Given the description of an element on the screen output the (x, y) to click on. 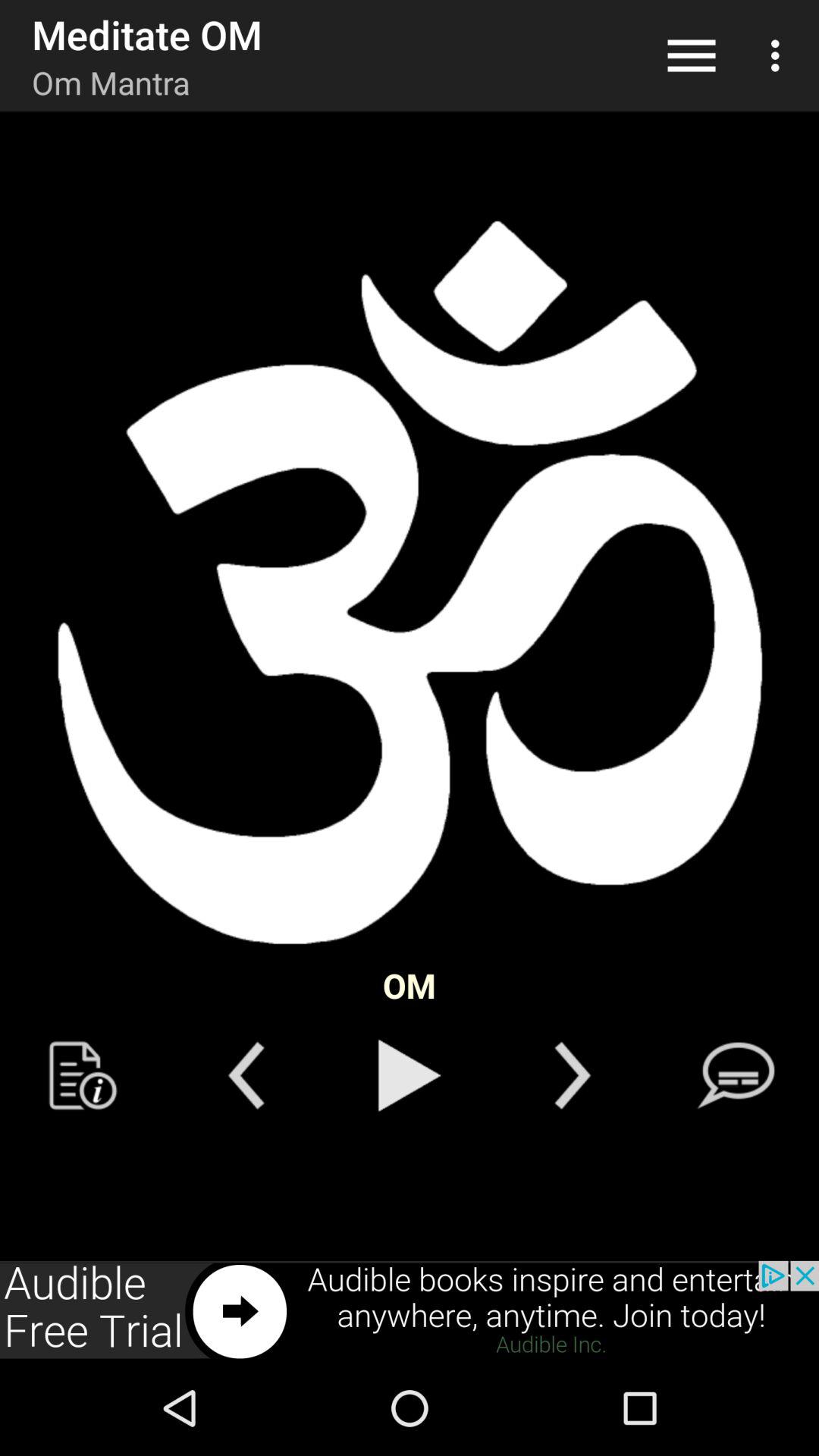
skip (572, 1075)
